Given the description of an element on the screen output the (x, y) to click on. 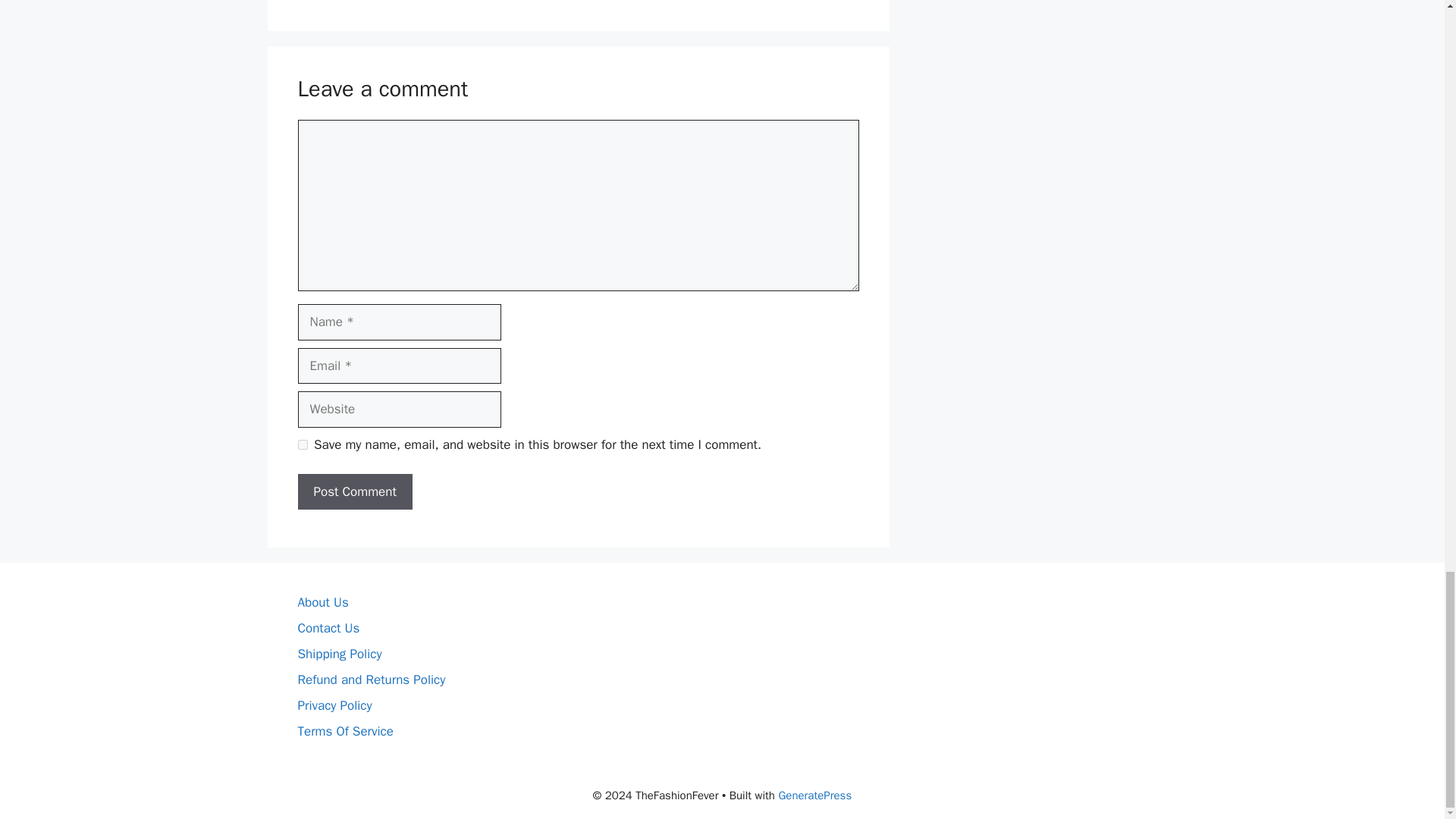
Terms Of Service (345, 731)
Shipping Policy (339, 653)
Post Comment (354, 492)
About Us (322, 602)
Contact Us (328, 627)
Privacy Policy (334, 705)
yes (302, 444)
Refund and Returns Policy (371, 679)
Post Comment (354, 492)
GeneratePress (814, 795)
